Given the description of an element on the screen output the (x, y) to click on. 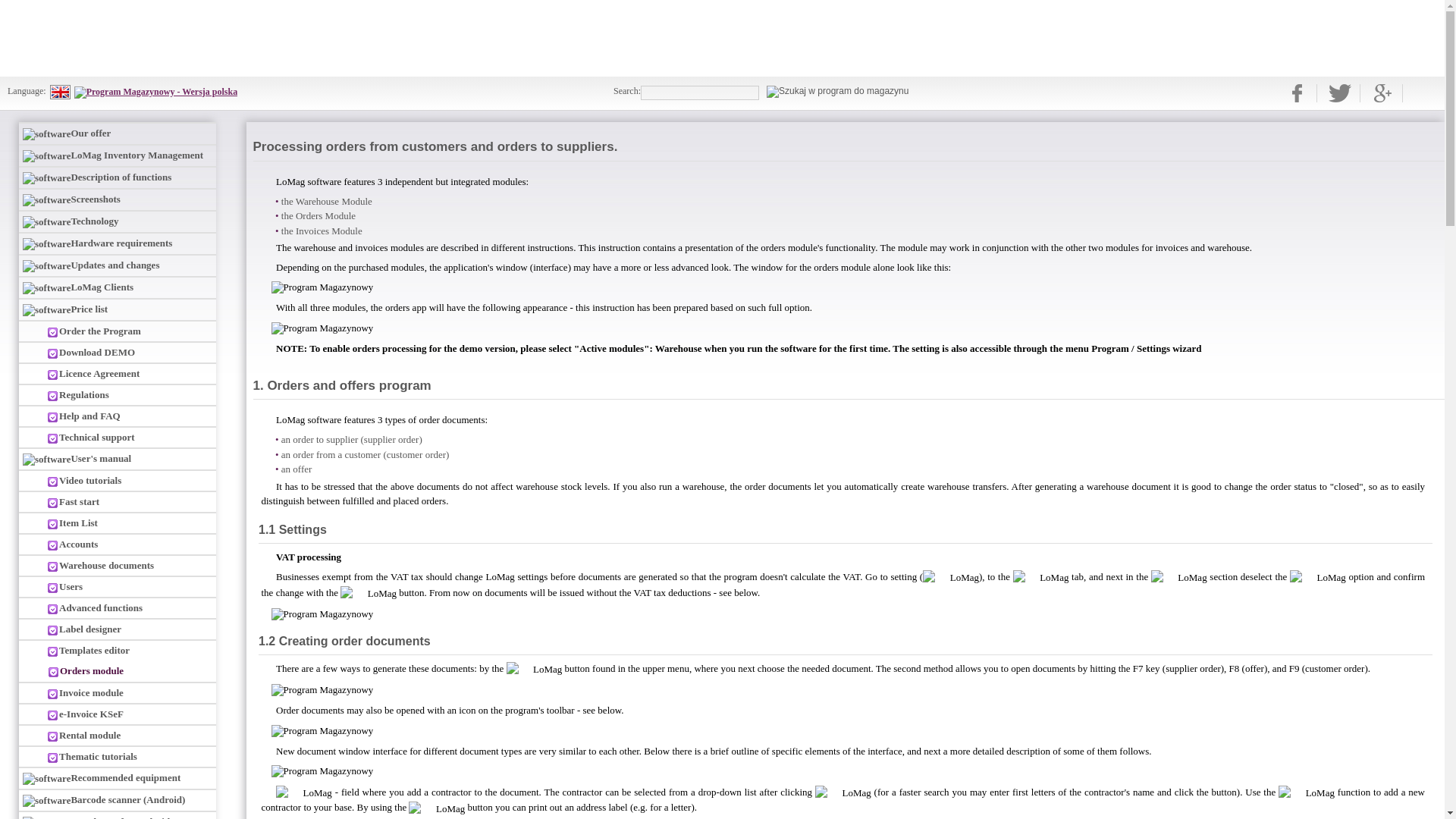
e-Invoice KSeF (116, 712)
LoMag Inventory Management (116, 155)
Order the Program (116, 330)
Advanced functions (116, 607)
Updates and changes (116, 264)
Label designer (116, 628)
Our offer (116, 133)
User's manual (116, 458)
Invoice module (116, 691)
Licence Agreement (116, 373)
